Given the description of an element on the screen output the (x, y) to click on. 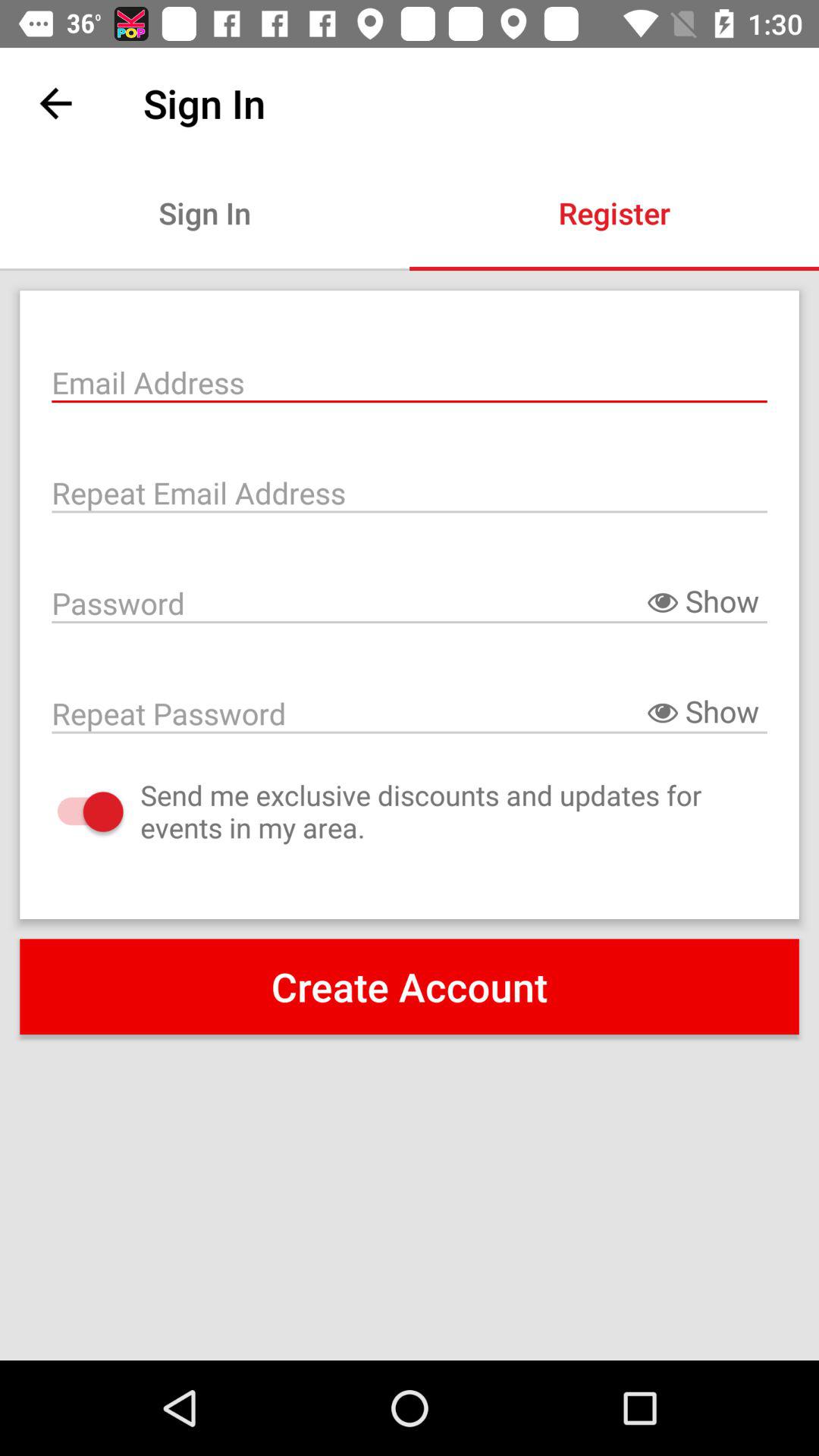
place of entered password to visible or not (409, 601)
